Given the description of an element on the screen output the (x, y) to click on. 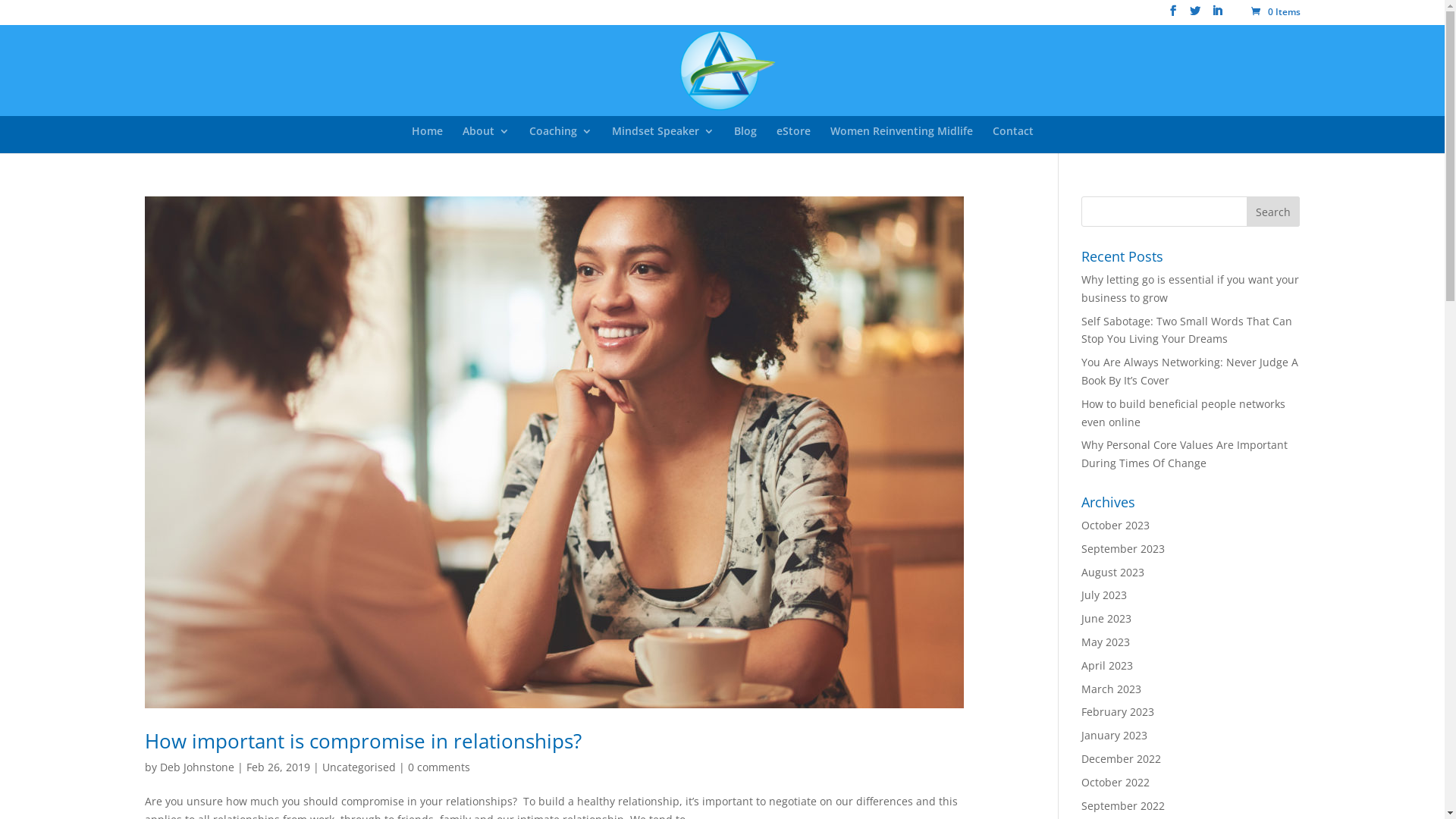
About Element type: text (485, 139)
October 2023 Element type: text (1115, 524)
June 2023 Element type: text (1106, 618)
How to build beneficial people networks even online Element type: text (1183, 412)
February 2023 Element type: text (1117, 711)
January 2023 Element type: text (1114, 735)
0 comments Element type: text (438, 766)
September 2022 Element type: text (1122, 805)
How important is compromise in relationships? Element type: text (362, 740)
Uncategorised Element type: text (358, 766)
Blog Element type: text (745, 139)
eStore Element type: text (793, 139)
December 2022 Element type: text (1121, 758)
September 2023 Element type: text (1122, 548)
Deb Johnstone Element type: text (196, 766)
Search Element type: text (1272, 211)
March 2023 Element type: text (1111, 688)
Contact Element type: text (1011, 139)
April 2023 Element type: text (1106, 665)
August 2023 Element type: text (1112, 571)
October 2022 Element type: text (1115, 782)
July 2023 Element type: text (1103, 594)
Coaching Element type: text (560, 139)
0 Items Element type: text (1275, 11)
May 2023 Element type: text (1105, 641)
Women Reinventing Midlife Element type: text (900, 139)
Home Element type: text (426, 139)
Mindset Speaker Element type: text (662, 139)
